Given the description of an element on the screen output the (x, y) to click on. 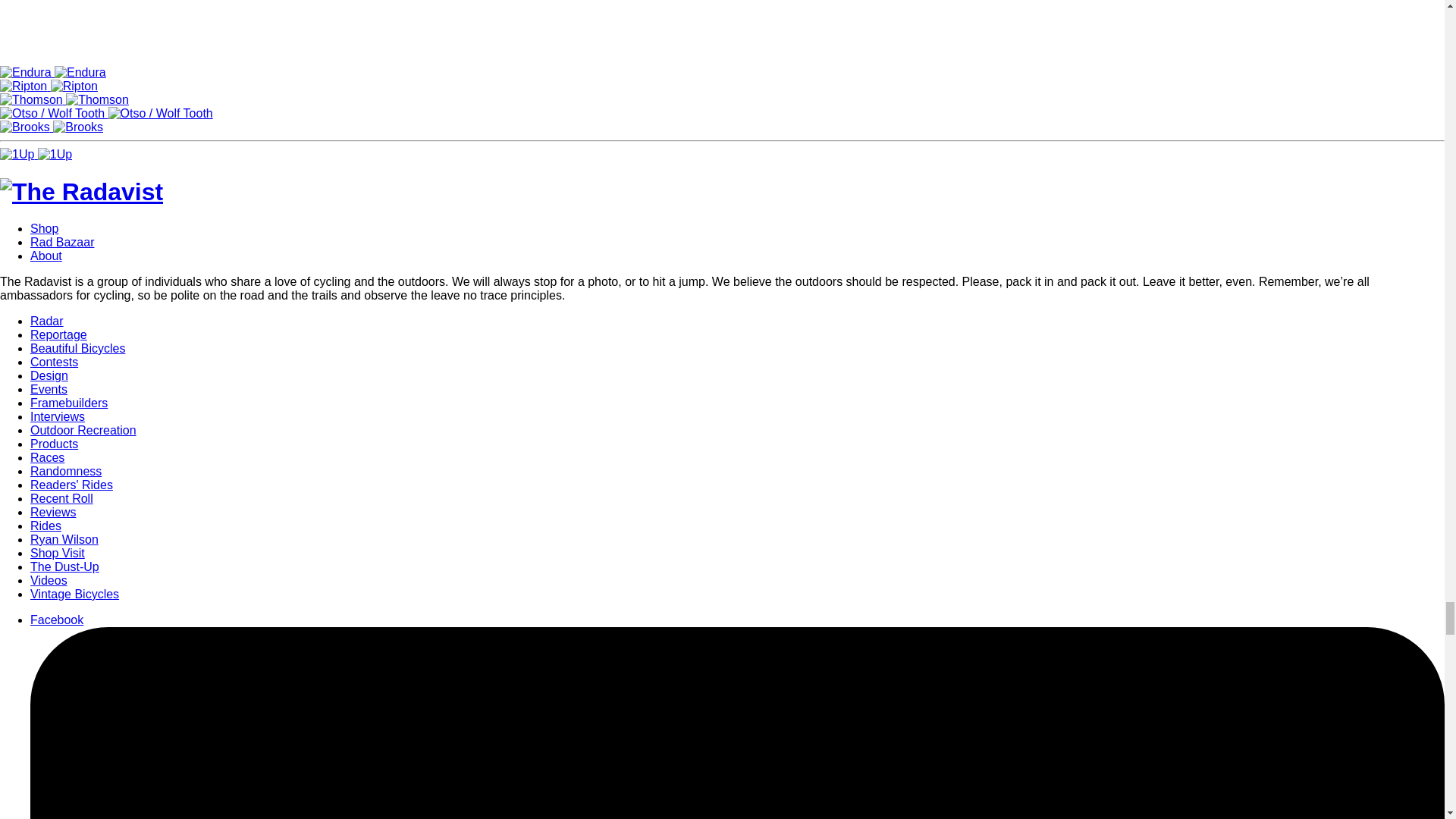
Ripton (25, 85)
Thomson (97, 99)
Ripton (73, 85)
Brooks (26, 126)
1Up (18, 154)
Endura (27, 72)
Endura (80, 72)
1Up (54, 154)
Thomson (32, 99)
Brooks (77, 126)
